Given the description of an element on the screen output the (x, y) to click on. 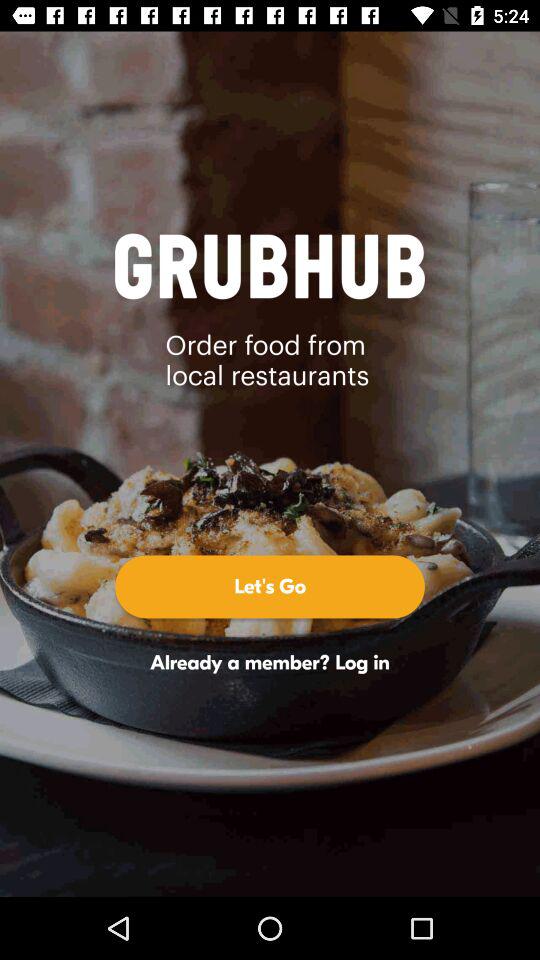
jump until already a member icon (269, 662)
